Given the description of an element on the screen output the (x, y) to click on. 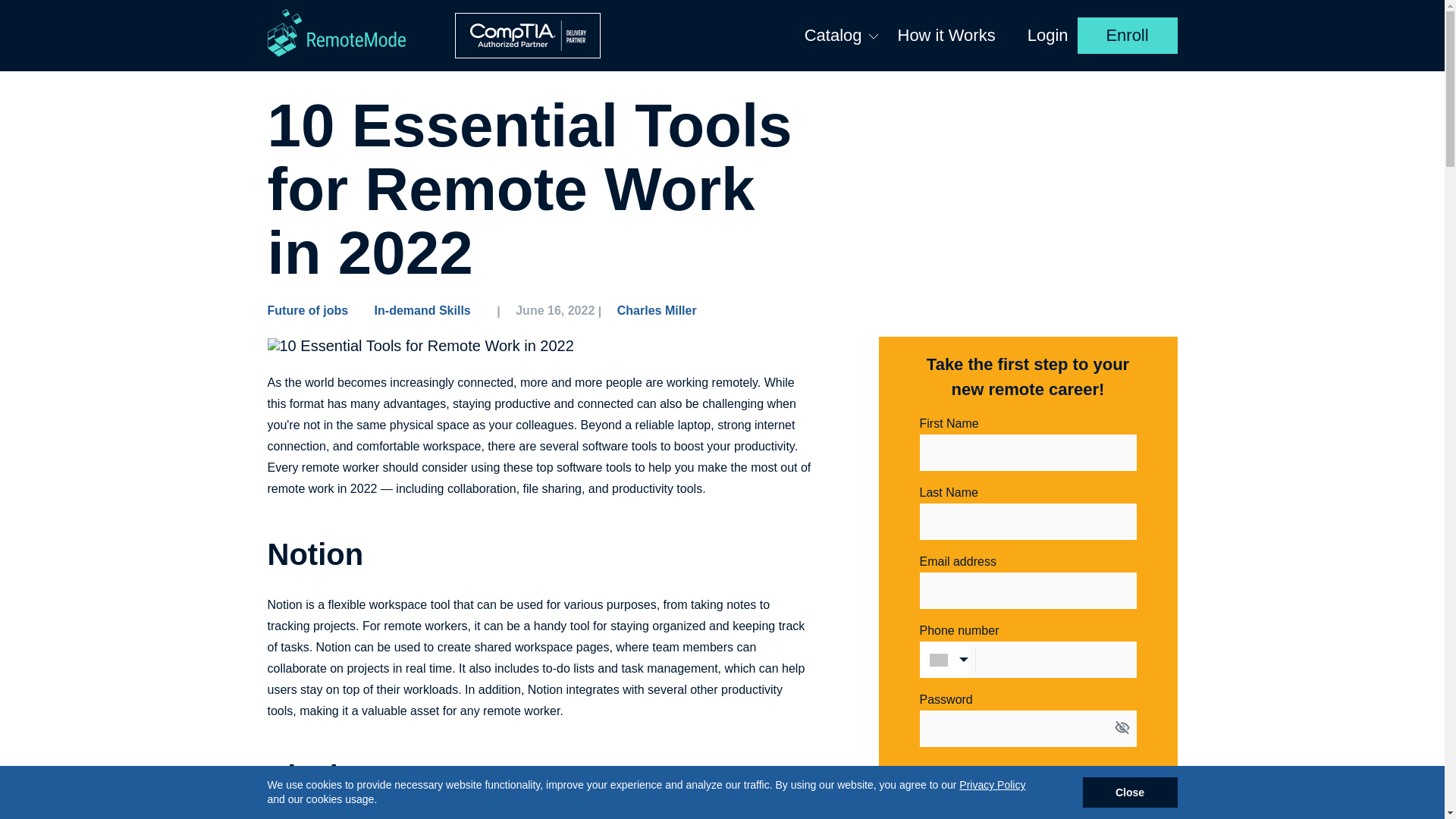
Enroll (1127, 35)
Login (1047, 35)
How it Works (946, 35)
